Given the description of an element on the screen output the (x, y) to click on. 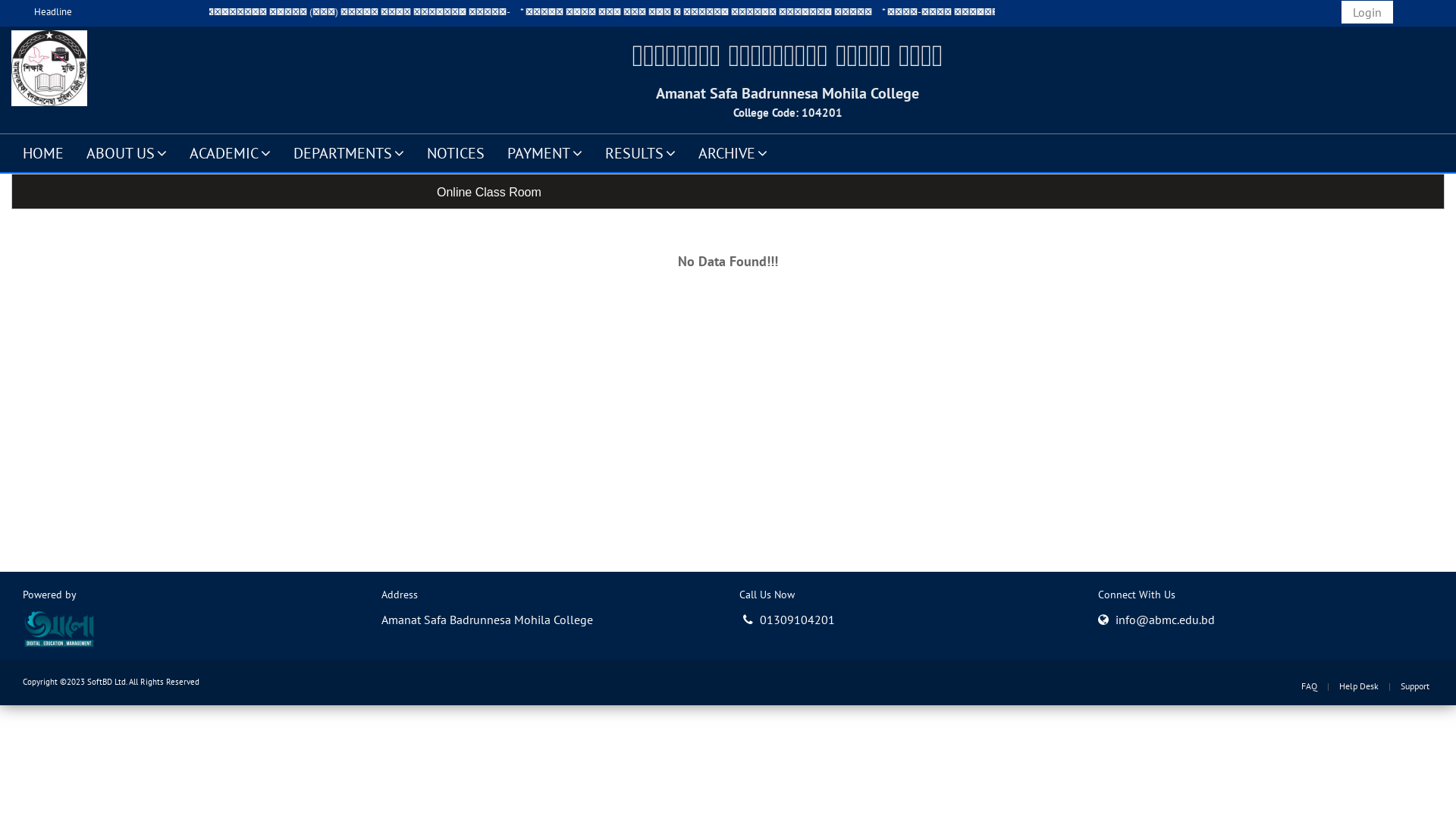
Login Element type: text (1367, 11)
FAQ Element type: text (1309, 684)
SoftBD Ltd. Element type: text (106, 681)
ARCHIVE Element type: text (732, 152)
Help Desk Element type: text (1358, 684)
RESULTS Element type: text (640, 152)
HOME Element type: text (43, 152)
01309104201 Element type: text (788, 618)
DEPARTMENTS Element type: text (348, 152)
info@abmc.edu.bd Element type: text (1164, 618)
PAYMENT Element type: text (544, 152)
ACADEMIC Element type: text (230, 152)
Support Element type: text (1414, 684)
ABOUT US Element type: text (126, 152)
NOTICES Element type: text (455, 152)
